Given the description of an element on the screen output the (x, y) to click on. 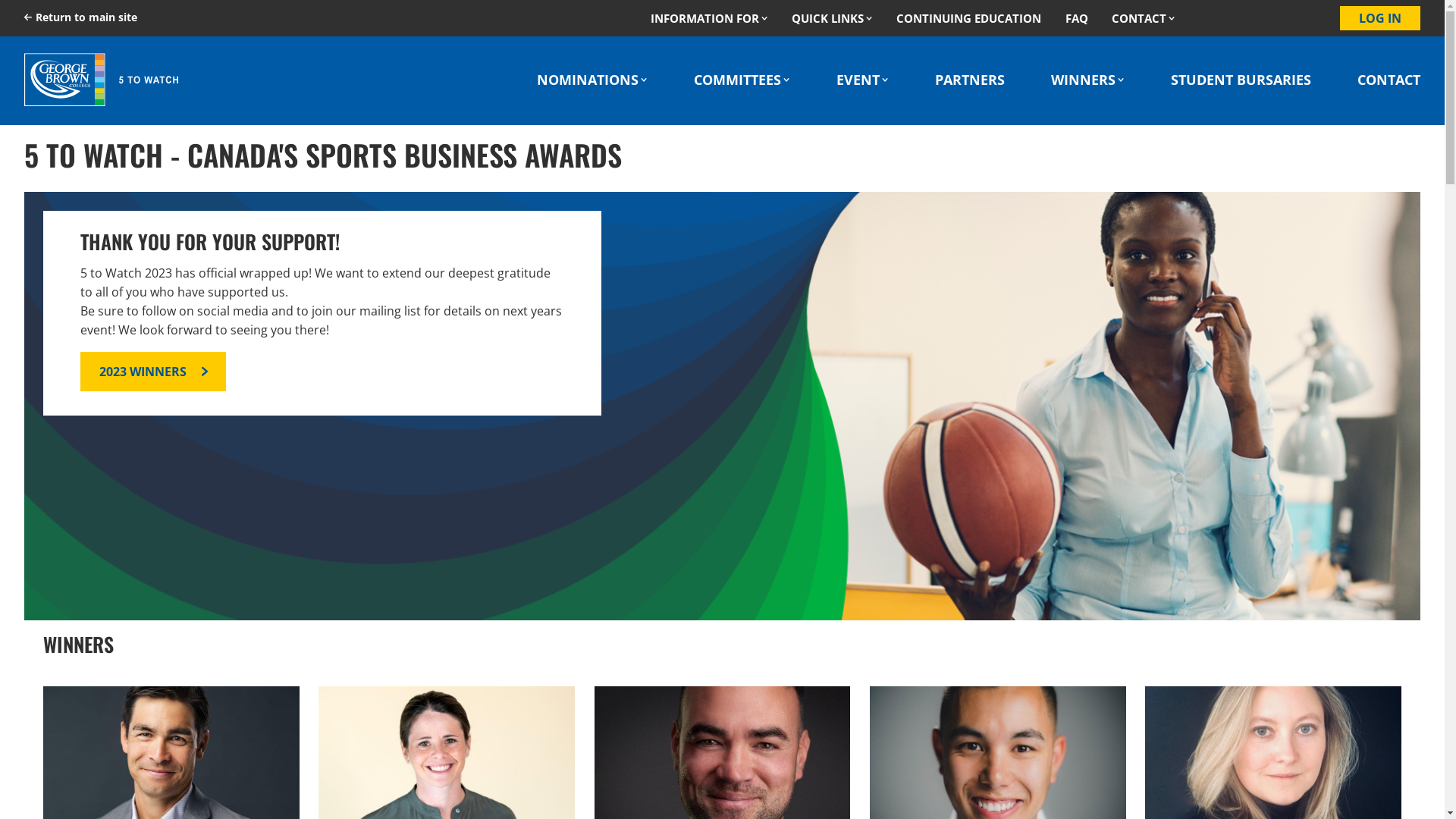
STUDENT BURSARIES Element type: text (1240, 79)
Skip to main content Element type: text (0, 0)
CONTACT Element type: text (1388, 79)
LOG IN Element type: text (1379, 18)
CONTINUING EDUCATION Element type: text (968, 18)
2023 WINNERS Element type: text (152, 371)
Return to main site Element type: text (80, 16)
EVENT Element type: text (862, 79)
PARTNERS Element type: text (969, 79)
WINNERS Element type: text (1087, 79)
NOMINATIONS Element type: text (591, 79)
FAQ Element type: text (1076, 18)
COMMITTEES Element type: text (741, 79)
